Given the description of an element on the screen output the (x, y) to click on. 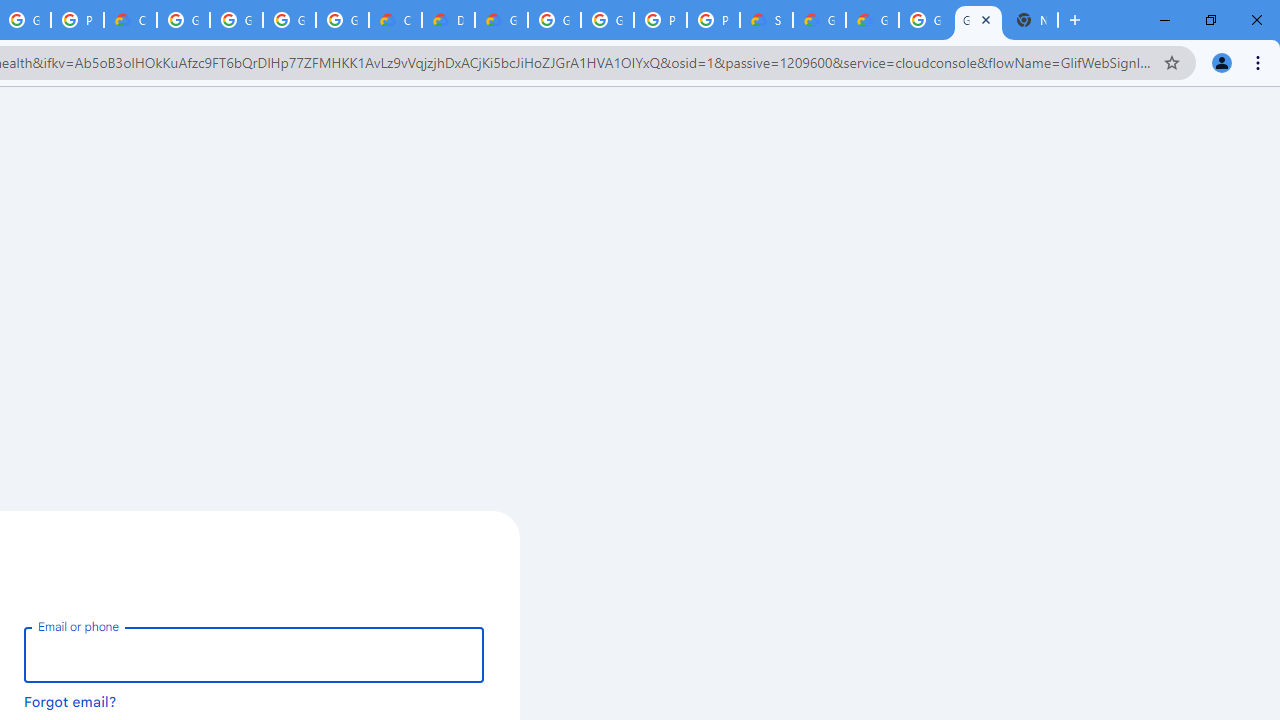
New Tab (1031, 20)
Google Workspace - Specific Terms (289, 20)
Cloud Data Processing Addendum | Google Cloud (130, 20)
Google Cloud Service Health (819, 20)
Google Cloud Platform (978, 20)
Google Cloud Platform (607, 20)
